Given the description of an element on the screen output the (x, y) to click on. 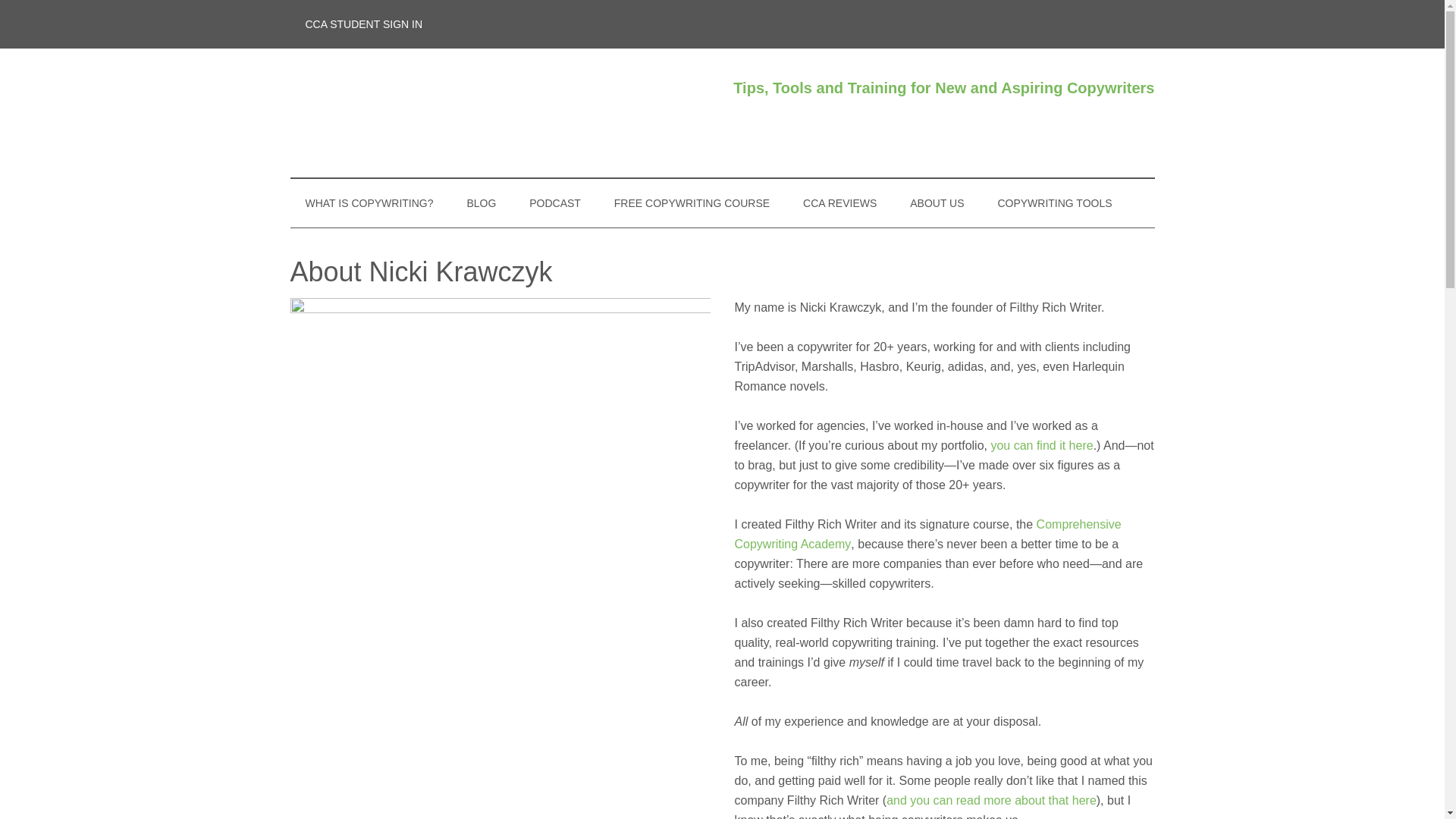
CCA REVIEWS (839, 203)
Filthy Rich Writer (433, 112)
BLOG (481, 203)
Comprehensive Copywriting Academy (927, 533)
FREE COPYWRITING COURSE (691, 203)
ABOUT US (936, 203)
COPYWRITING TOOLS (1053, 203)
and you can read more about that here (991, 799)
PODCAST (554, 203)
WHAT IS COPYWRITING? (368, 203)
CCA STUDENT SIGN IN (363, 24)
you can find it here (1041, 445)
